Given the description of an element on the screen output the (x, y) to click on. 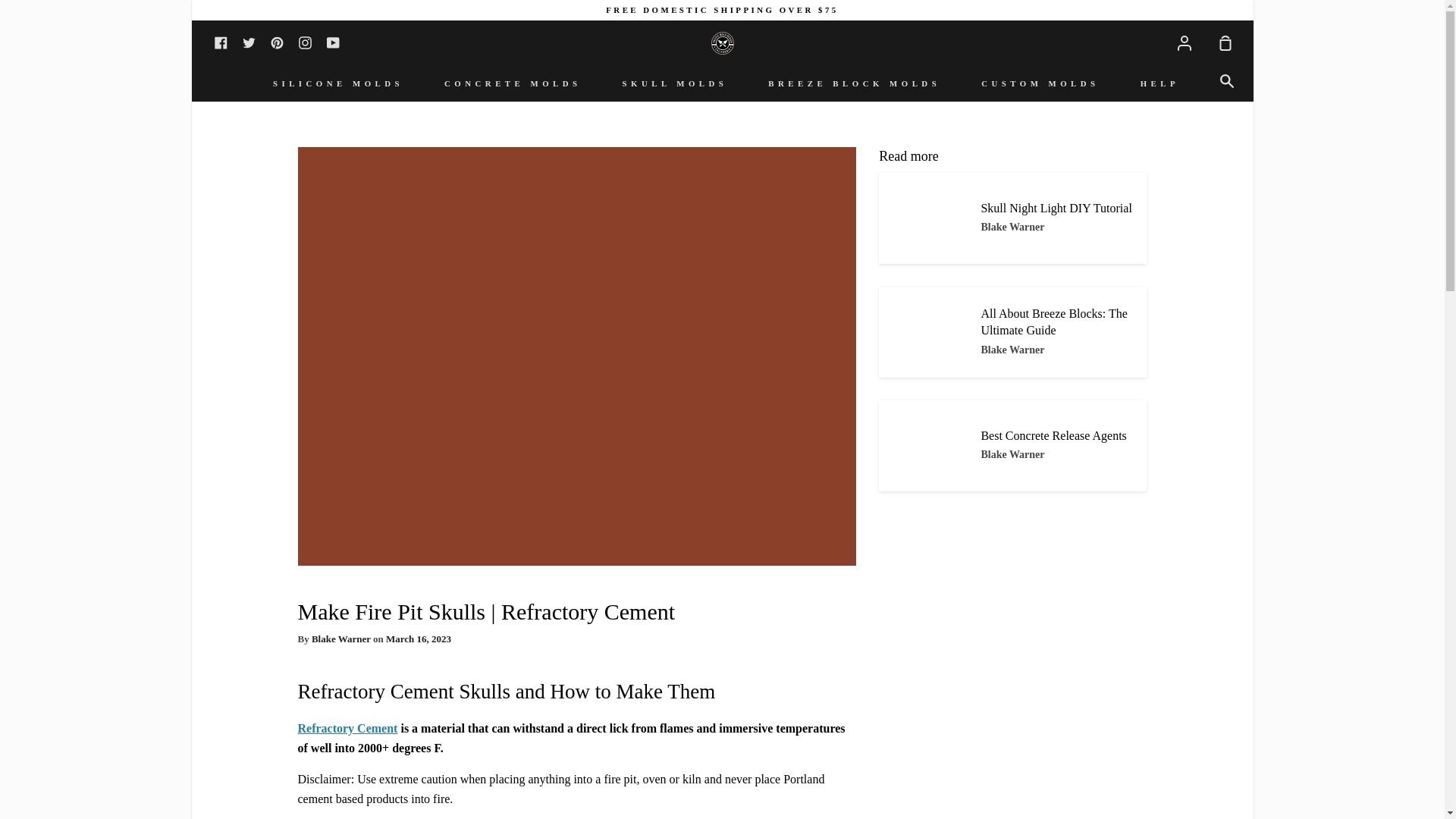
Facebook (220, 41)
HELP (1159, 82)
Account (1183, 41)
Pacific Mold Design on Instagram (304, 41)
Instagram (304, 41)
YouTube (332, 41)
Search our store (1229, 81)
Pacific Mold Design on Pinterest (275, 41)
Refractory Cement (347, 727)
Twitter (249, 41)
